Given the description of an element on the screen output the (x, y) to click on. 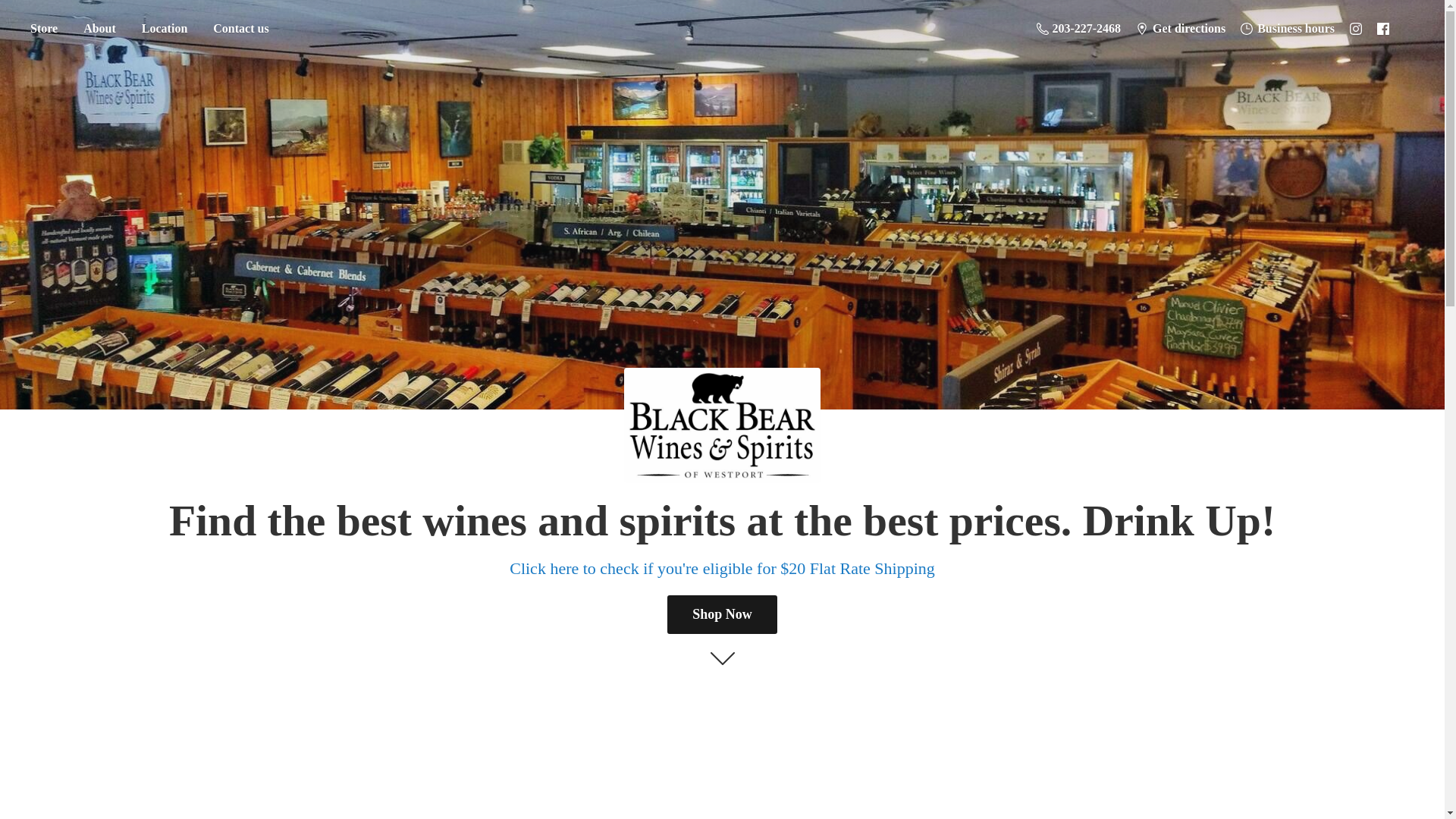
203-227-2468 (1078, 28)
Shop Now (721, 614)
Location (164, 29)
Store (43, 29)
Business hours (1287, 28)
Contact us (240, 29)
About (99, 29)
Get directions (1180, 28)
